Given the description of an element on the screen output the (x, y) to click on. 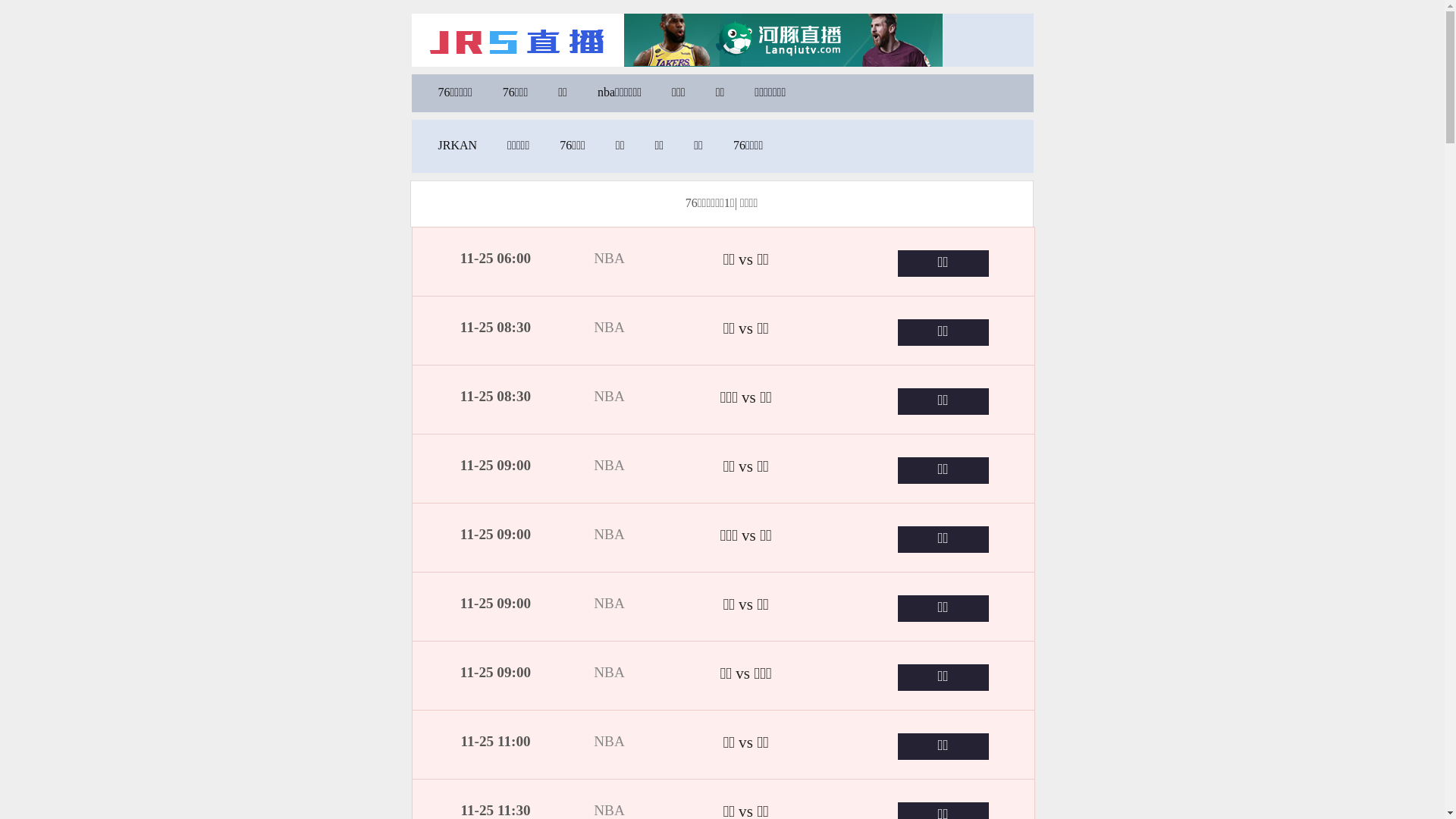
JRKAN Element type: text (457, 144)
